Given the description of an element on the screen output the (x, y) to click on. 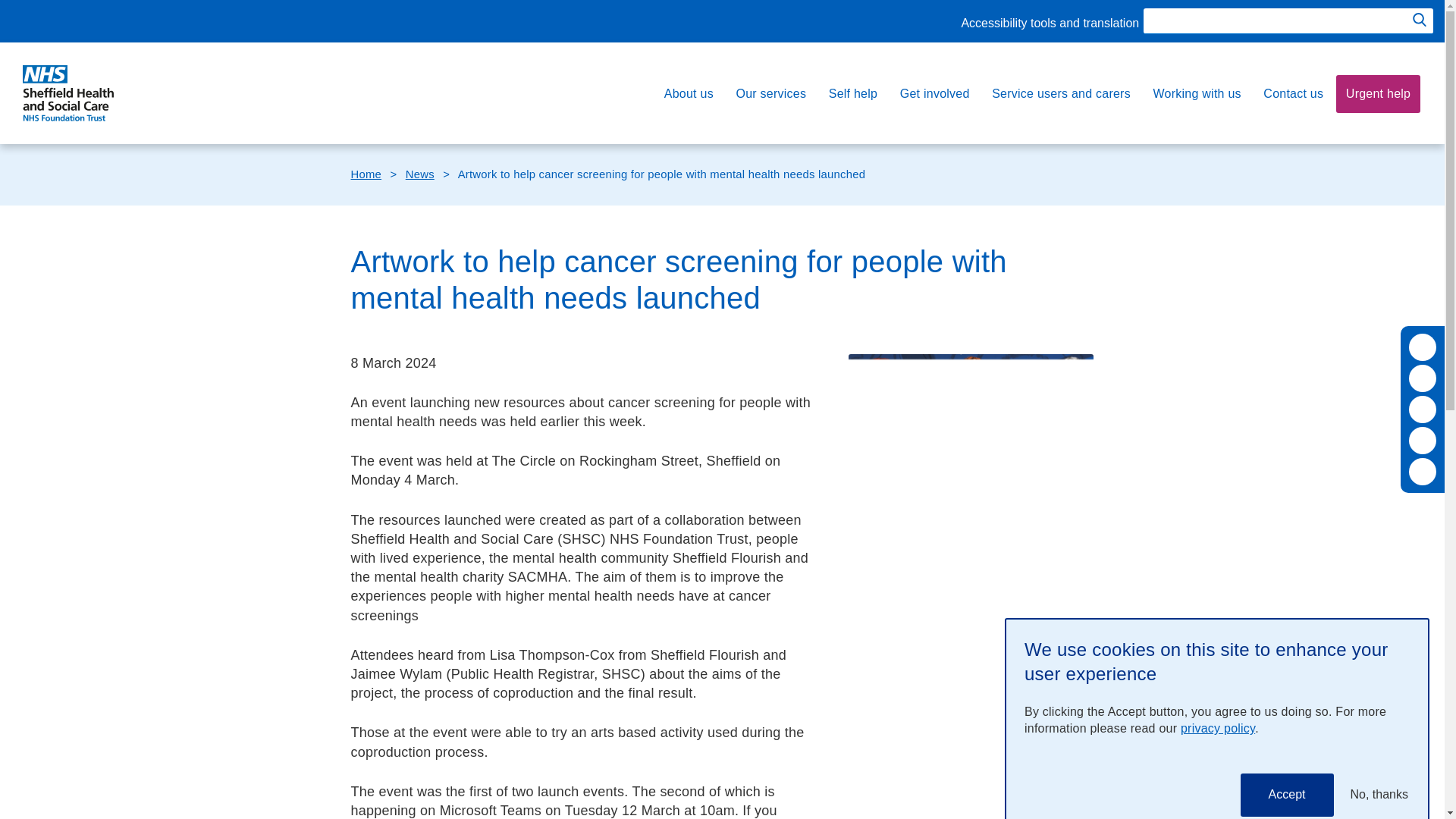
Accessibility help (1422, 471)
Get involved (933, 94)
Our services (770, 94)
Self help (852, 94)
About us (688, 94)
Reset (1422, 409)
Home (68, 93)
Decrease font size (1422, 378)
Service users and carers (1060, 94)
